Given the description of an element on the screen output the (x, y) to click on. 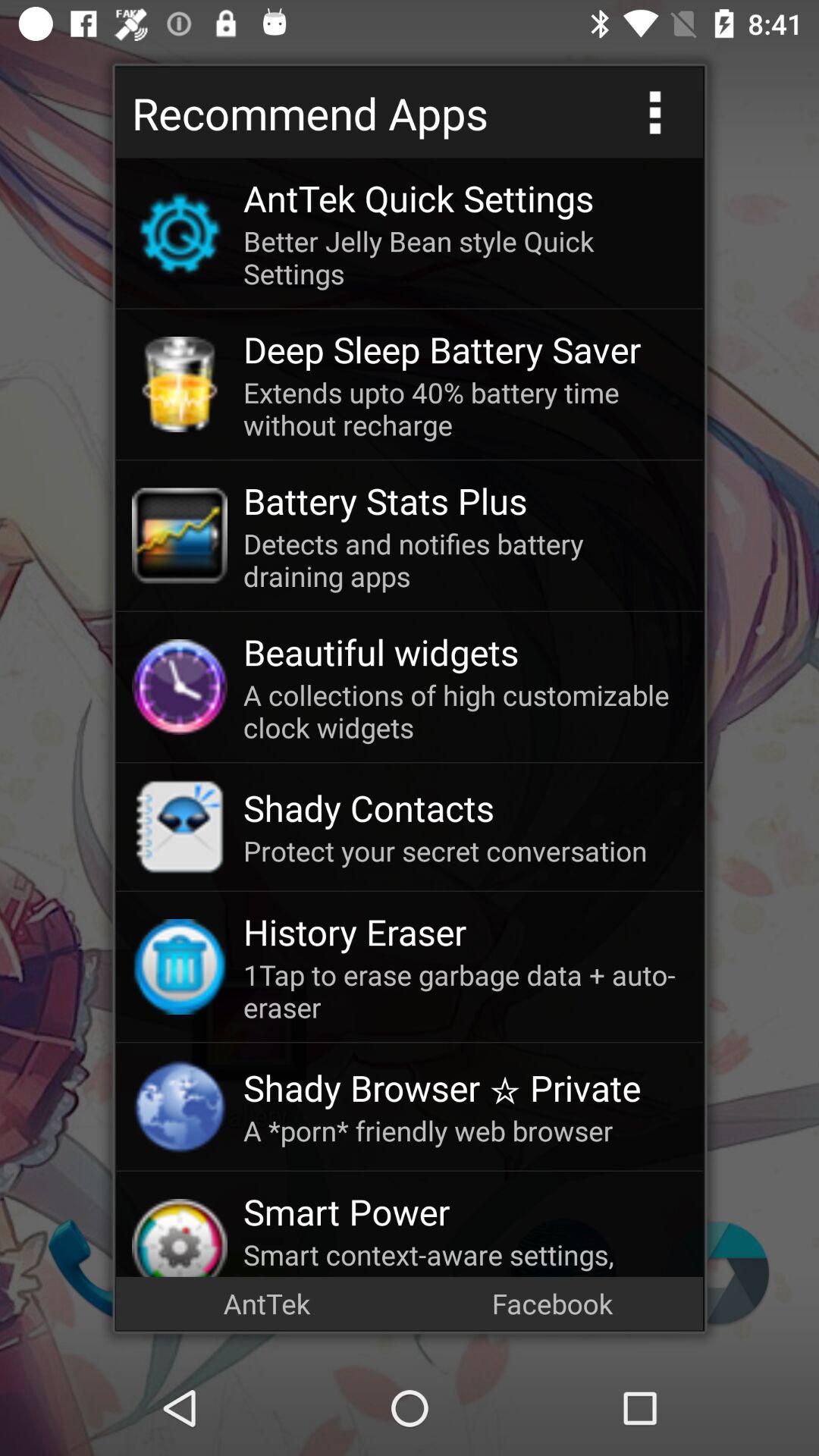
turn off icon above a porn friendly icon (465, 1087)
